Given the description of an element on the screen output the (x, y) to click on. 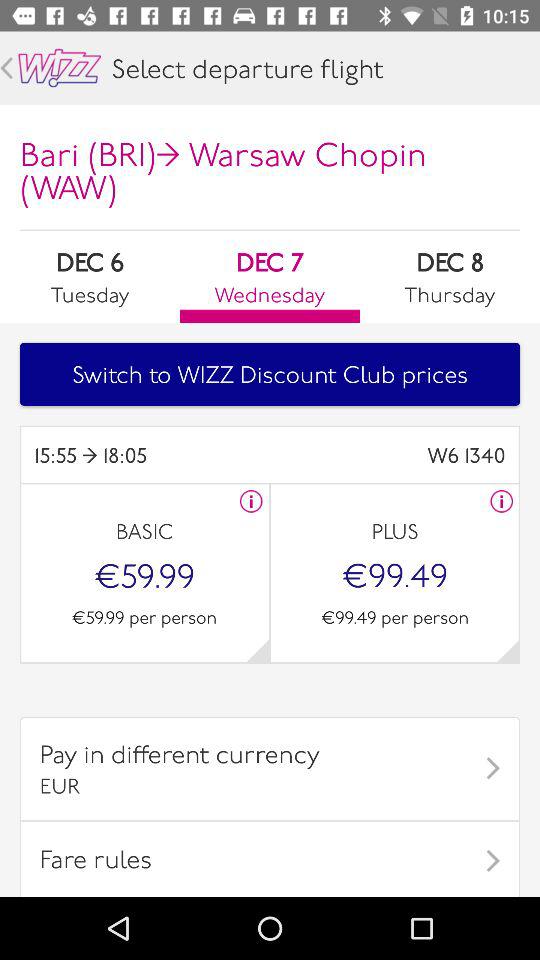
expand section (507, 650)
